Given the description of an element on the screen output the (x, y) to click on. 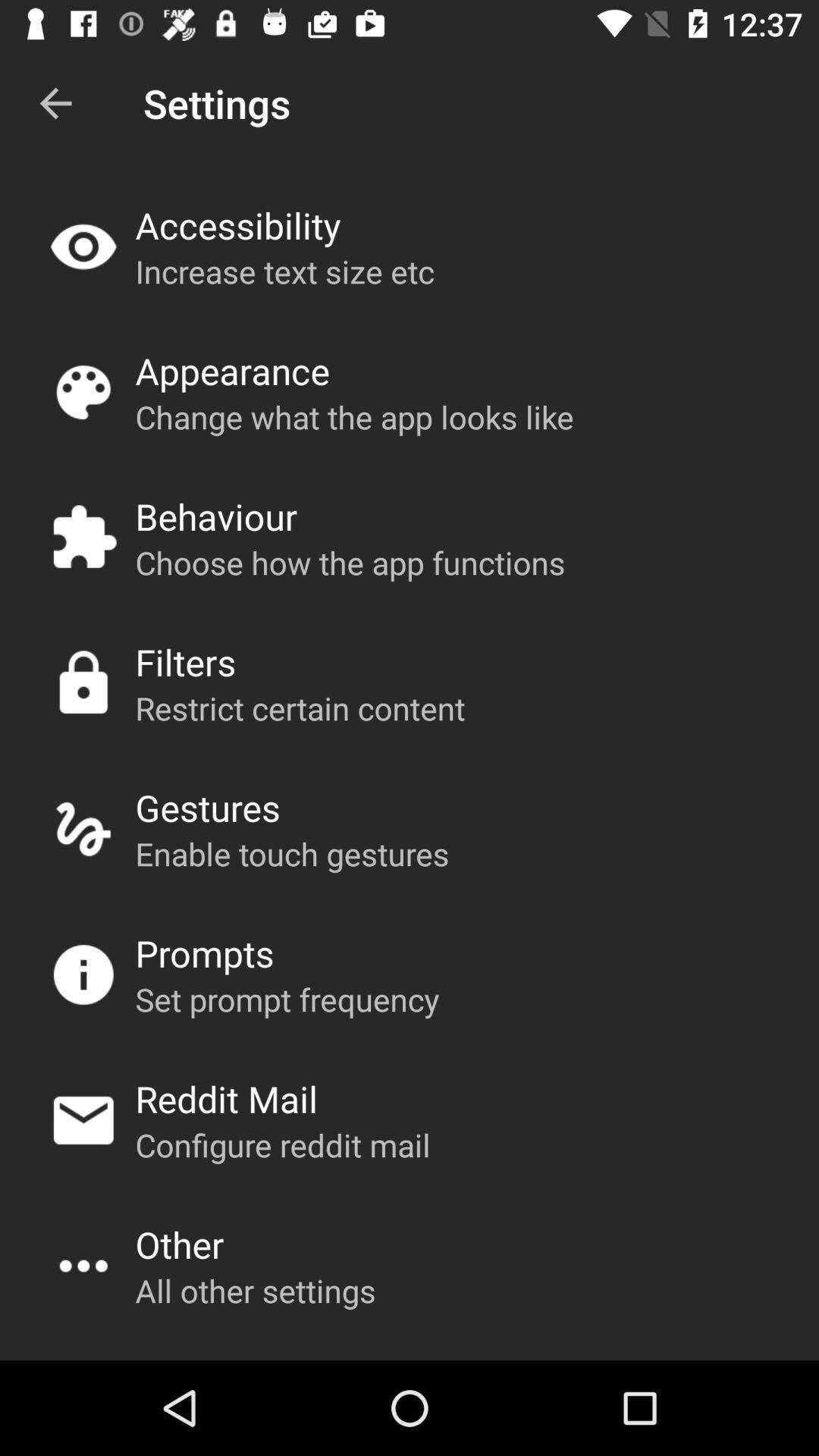
scroll until filters (185, 661)
